Given the description of an element on the screen output the (x, y) to click on. 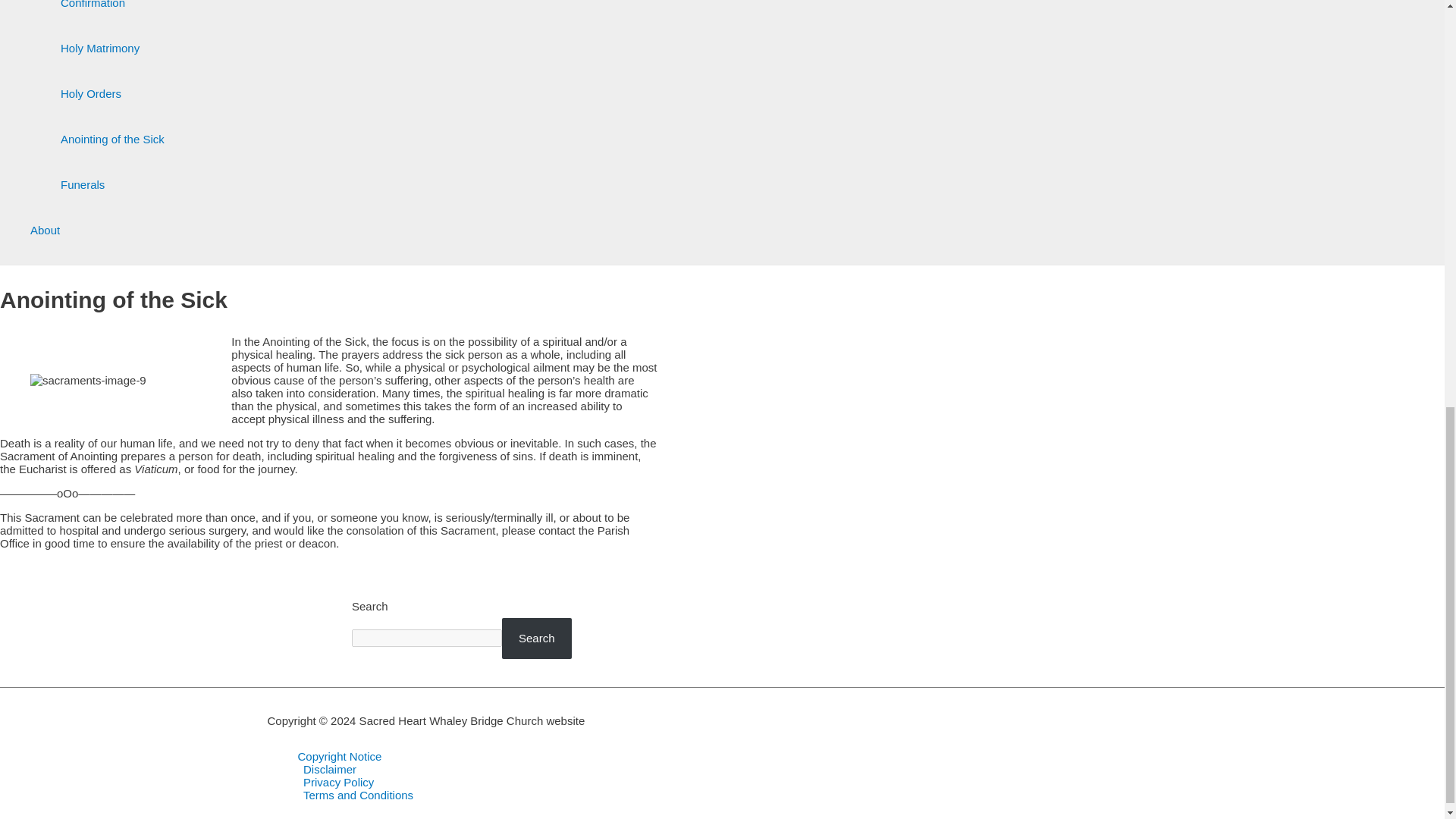
Confirmation (112, 12)
About (97, 230)
Funerals (112, 185)
Holy Matrimony (112, 48)
Anointing of the Sick (112, 139)
Holy Orders (112, 94)
